Given the description of an element on the screen output the (x, y) to click on. 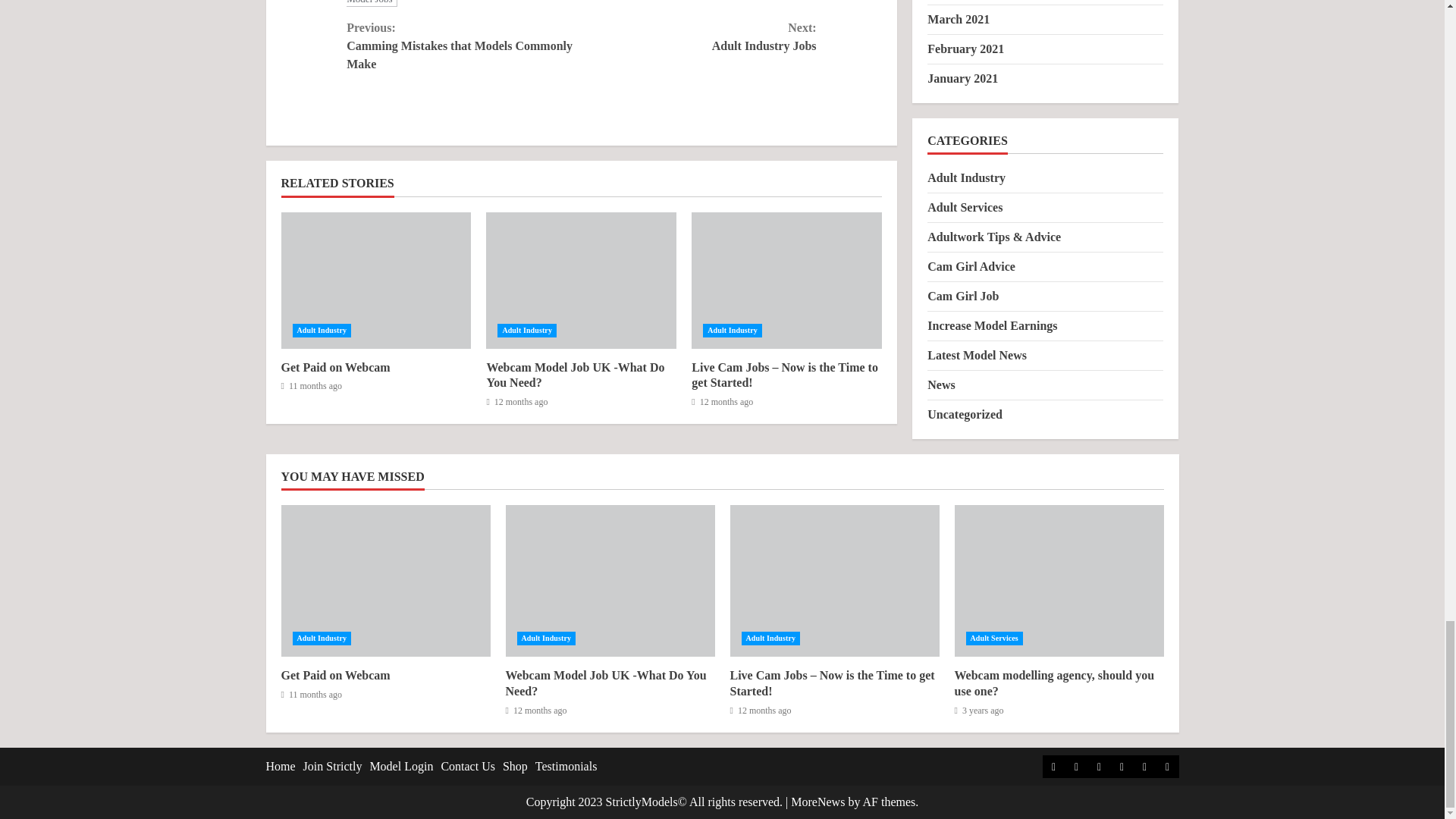
Get Paid on Webcam (335, 367)
Webcam Model Job UK -What Do You Need? (581, 280)
Webcam Model Job UK -What Do You Need? (574, 375)
Adult Industry (463, 45)
What To Know About Adult Model Jobs (526, 330)
Adult Industry (698, 36)
Get Paid on Webcam (573, 3)
Adult Industry (732, 330)
